Given the description of an element on the screen output the (x, y) to click on. 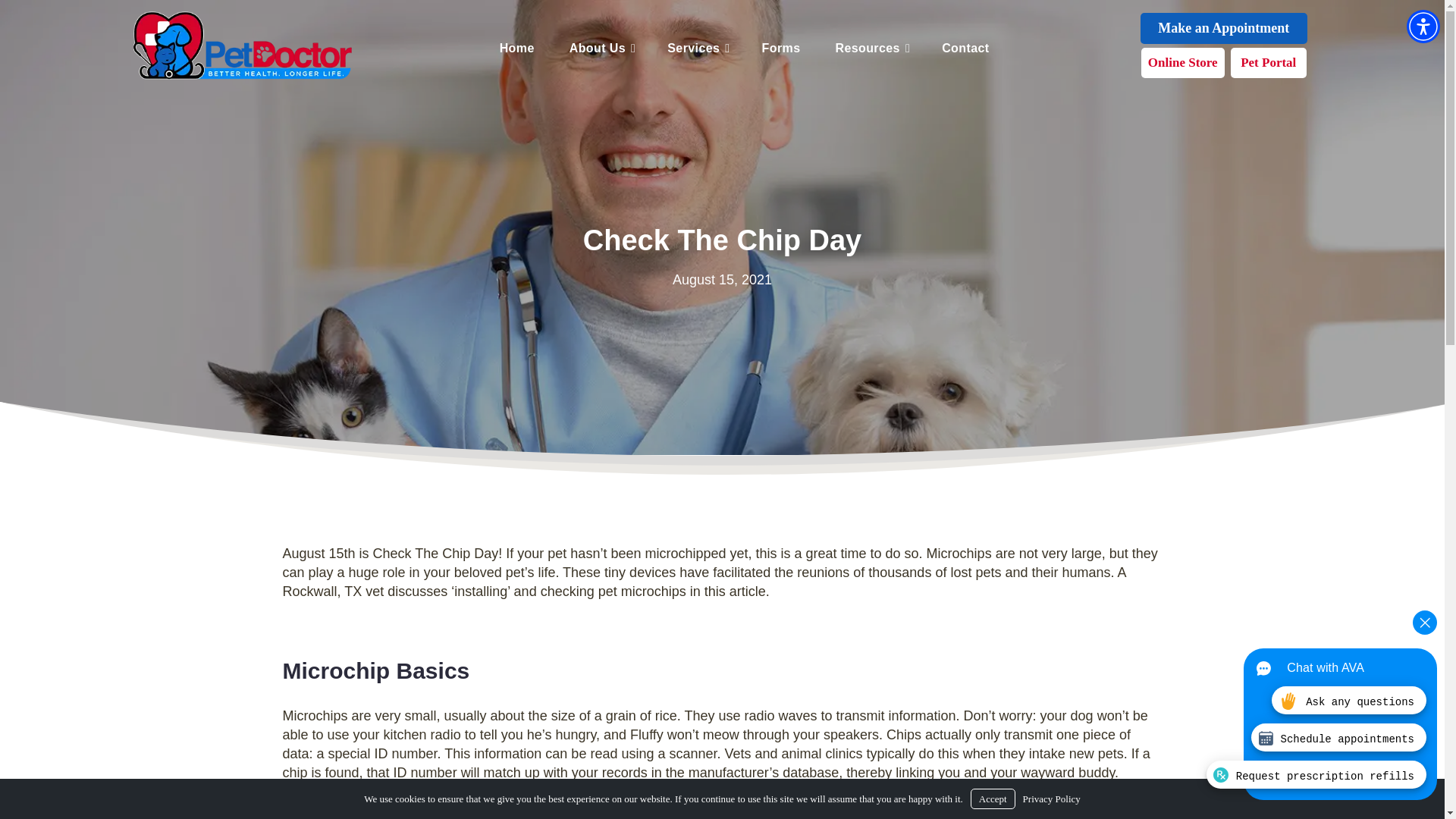
Accessibility Menu (1422, 26)
